Given the description of an element on the screen output the (x, y) to click on. 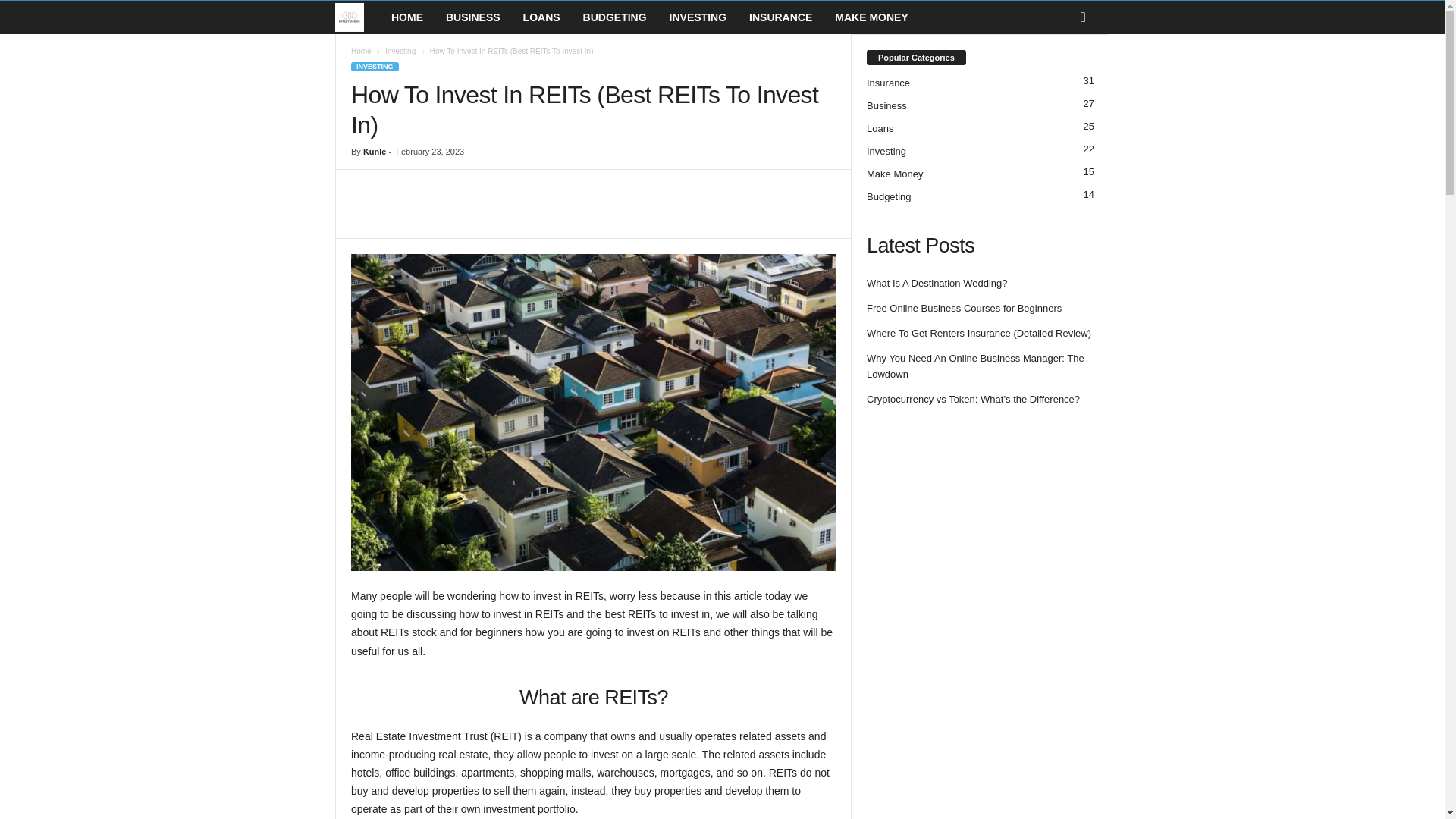
HOME (406, 17)
Advance Financial Tips (357, 16)
INSURANCE (781, 17)
Home (360, 50)
LOANS (542, 17)
MAKE MONEY (871, 17)
INVESTING (698, 17)
BUSINESS (472, 17)
Investing (399, 50)
